Given the description of an element on the screen output the (x, y) to click on. 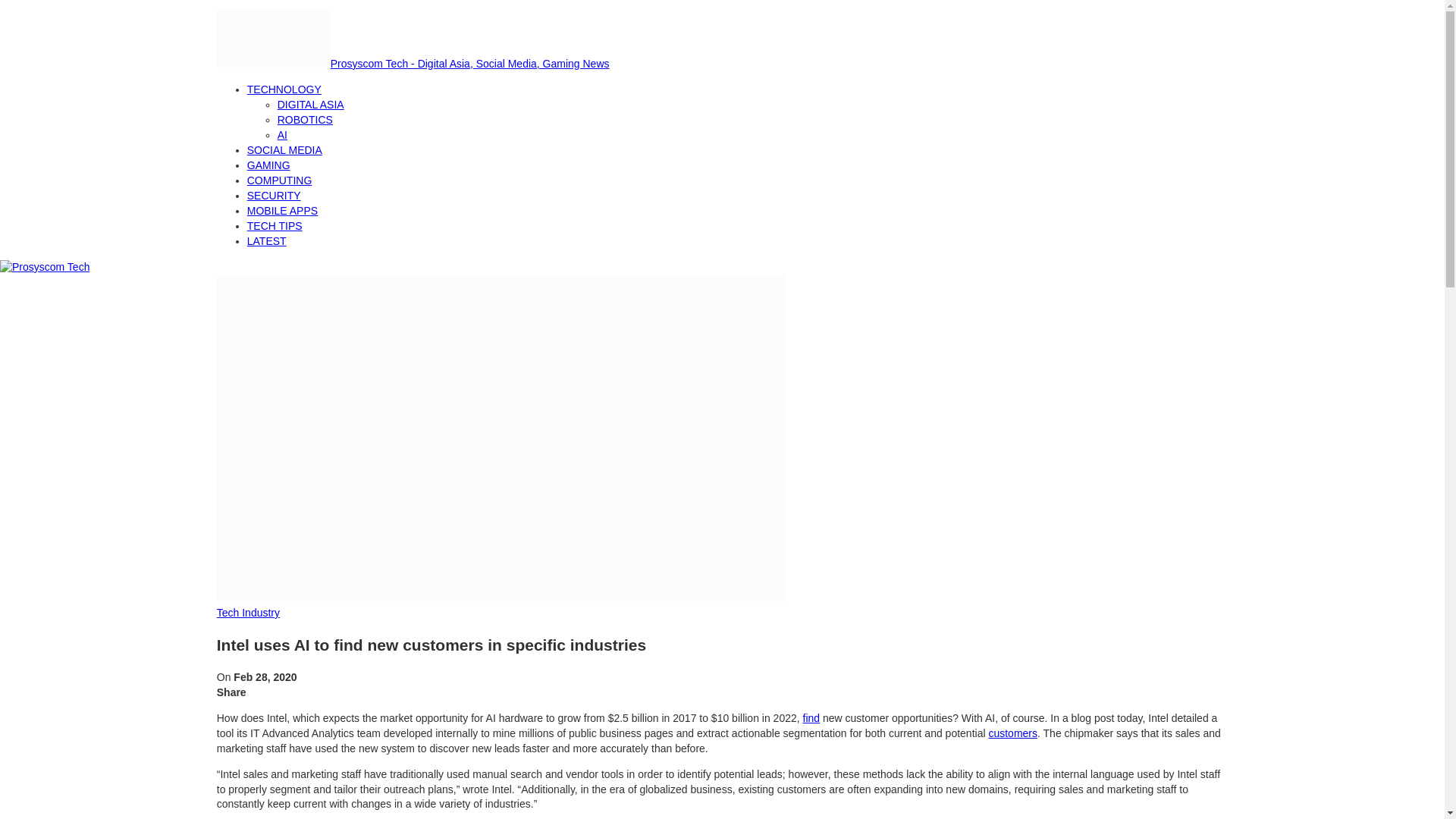
LATEST (266, 241)
customers (1012, 733)
find (812, 717)
COMPUTING (280, 180)
MOBILE APPS (282, 210)
ROBOTICS (305, 119)
DIGITAL ASIA (310, 104)
Prosyscom Tech - Digital Asia, Social Media, Gaming News (413, 63)
GAMING (268, 164)
SOCIAL MEDIA (284, 150)
Tech Industry (247, 612)
TECHNOLOGY (284, 89)
SECURITY (274, 195)
Posts tagged with customers (1012, 733)
TECH TIPS (274, 225)
